Given the description of an element on the screen output the (x, y) to click on. 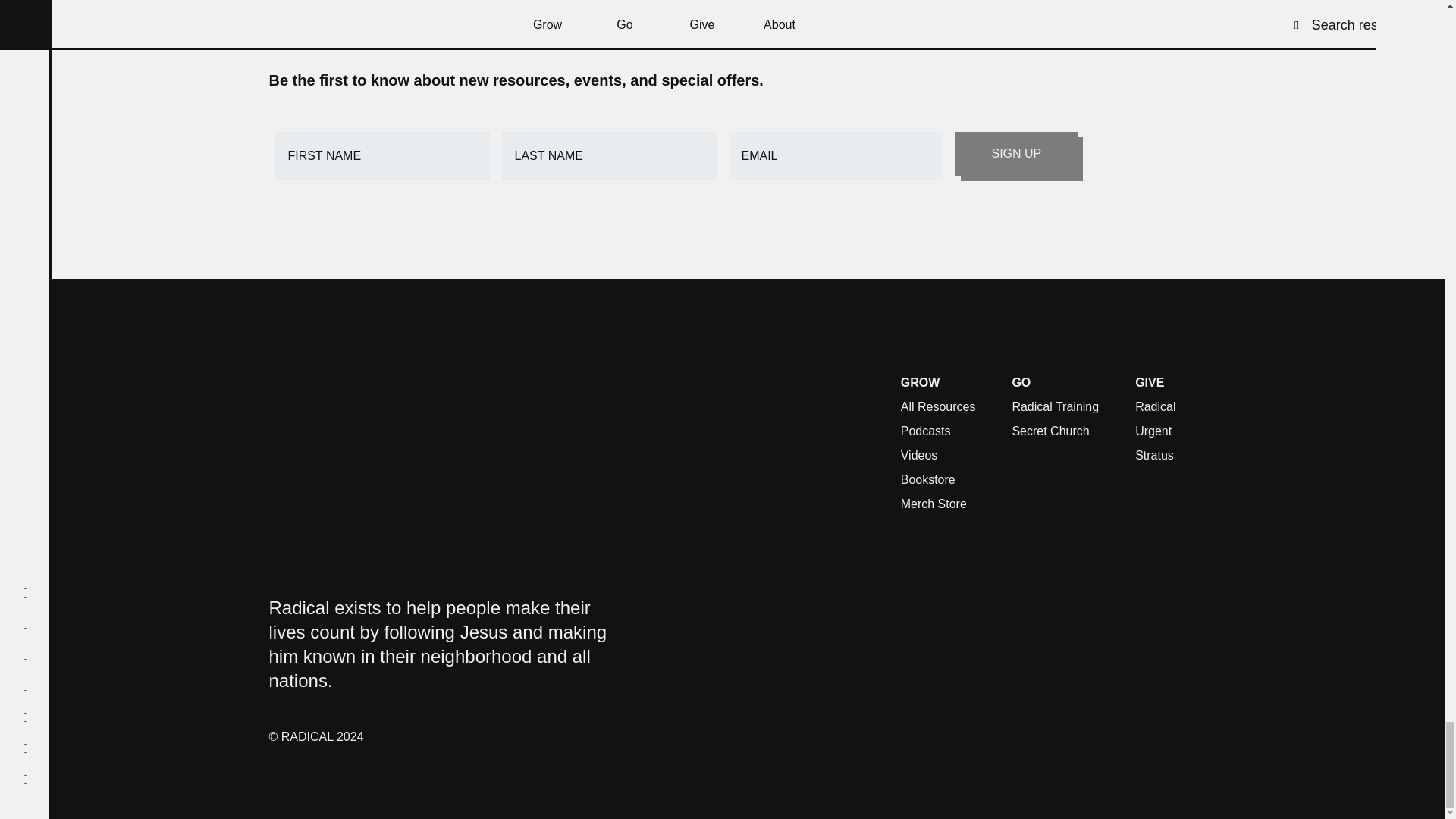
Sign Up (1016, 153)
